Given the description of an element on the screen output the (x, y) to click on. 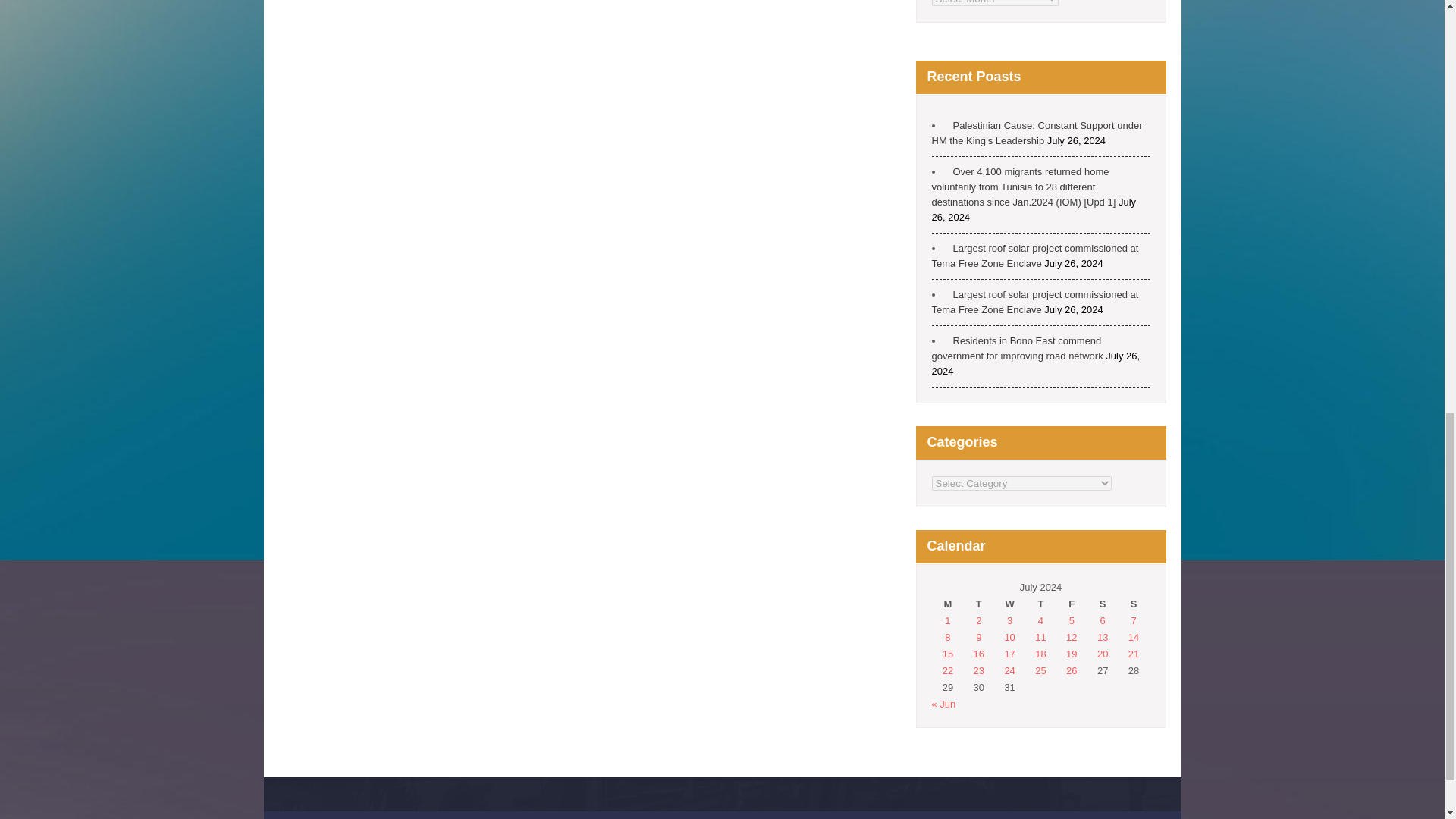
Saturday (1102, 604)
Friday (1071, 604)
Monday (947, 604)
Wednesday (1009, 604)
Tuesday (977, 604)
Sunday (1133, 604)
Thursday (1040, 604)
